Given the description of an element on the screen output the (x, y) to click on. 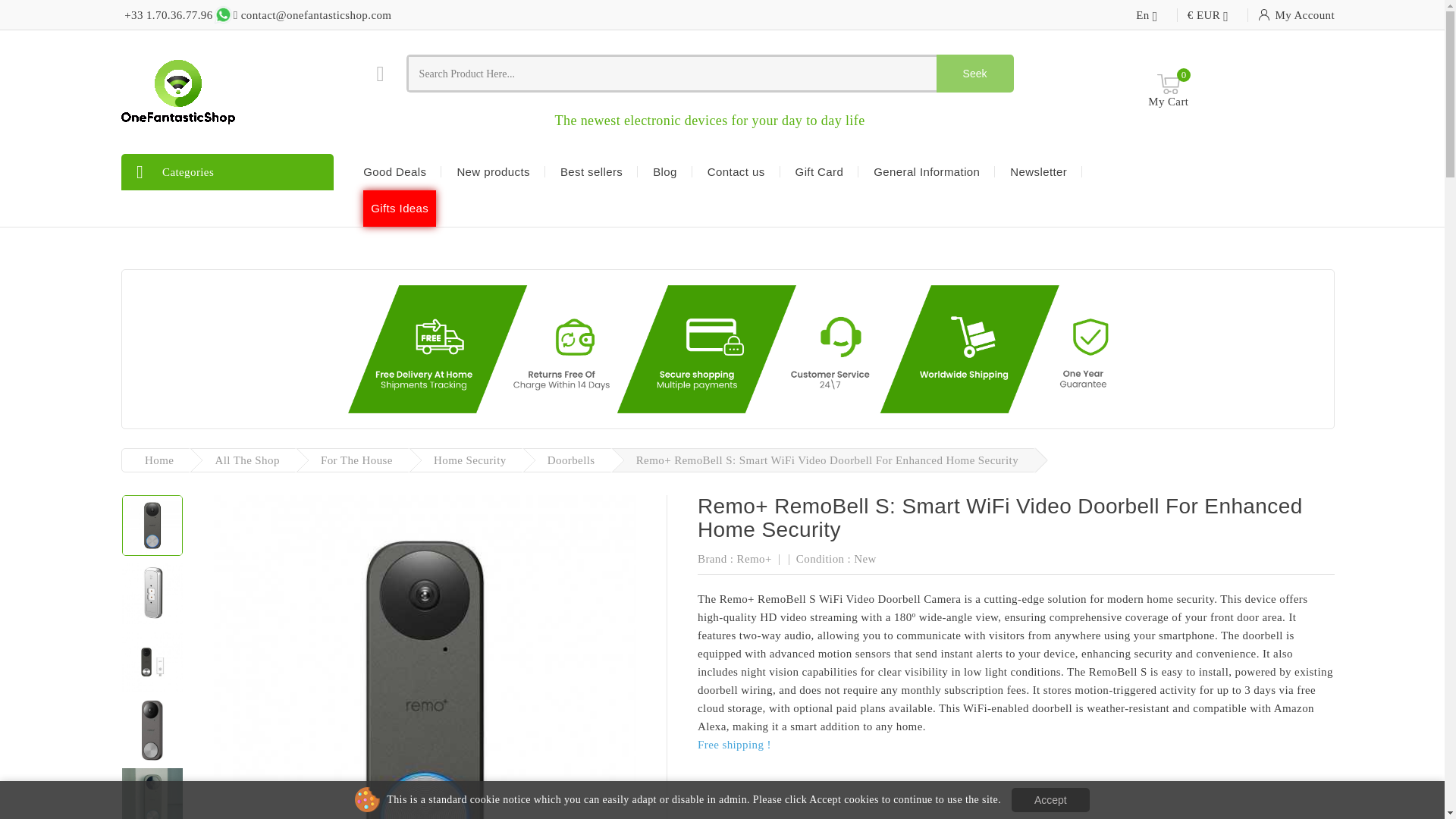
Log in to your customer account (1296, 15)
My Account (1296, 15)
Seek (974, 73)
